Given the description of an element on the screen output the (x, y) to click on. 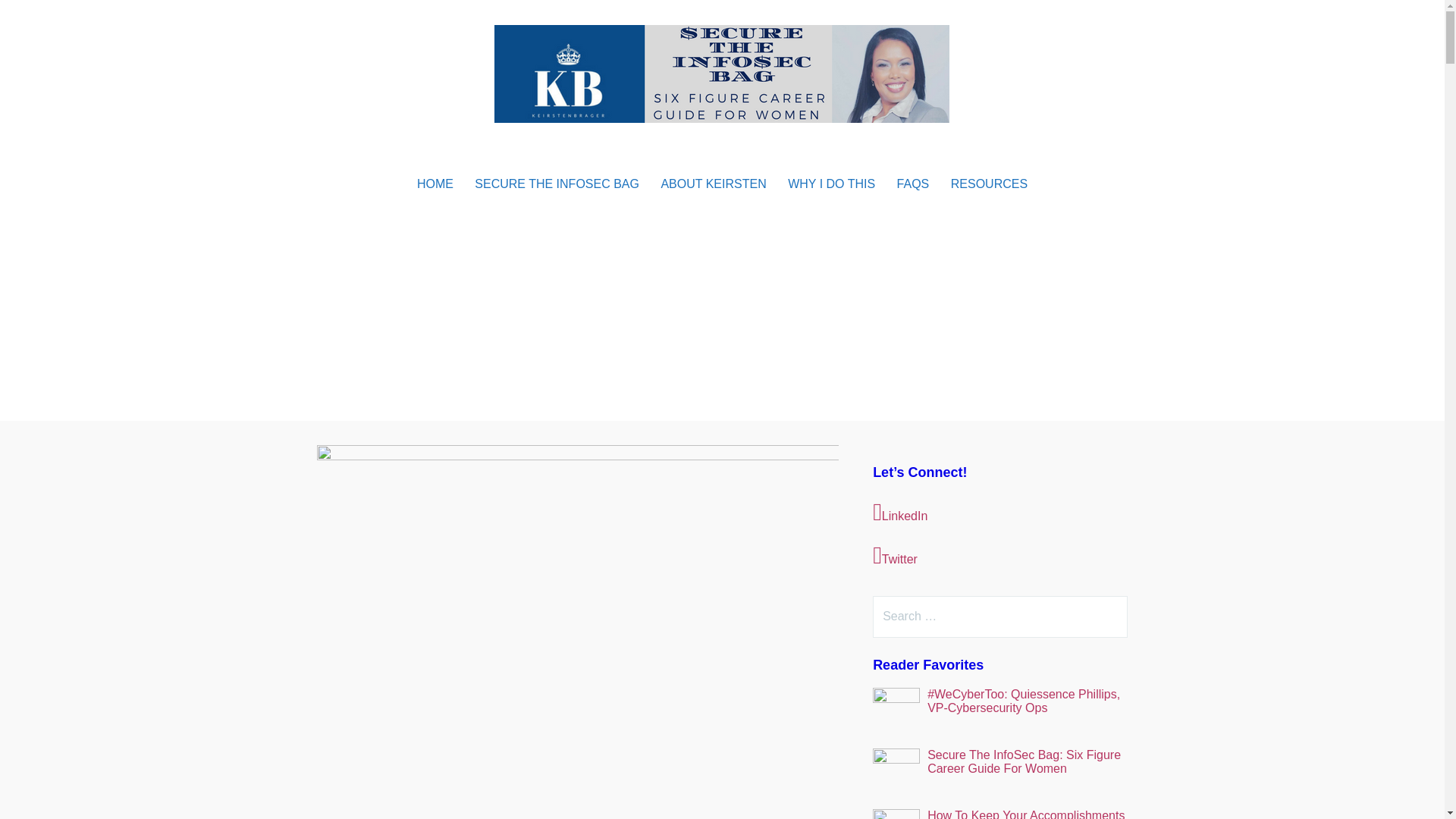
How To Keep Your Accomplishments In Front Of Your Boss (1025, 814)
Visit I Help Women In Tech Earn More Money on Twitter (999, 556)
Secure The InfoSec Bag: Six Figure Career Guide For Women (1024, 761)
HOME (435, 184)
WHY I DO THIS (830, 184)
LinkedIn (999, 513)
ABOUT KEIRSTEN (712, 184)
I Help Women In Tech Earn More Money (545, 148)
Visit I Help Women In Tech Earn More Money on LinkedIn (999, 513)
RESOURCES (989, 184)
